Given the description of an element on the screen output the (x, y) to click on. 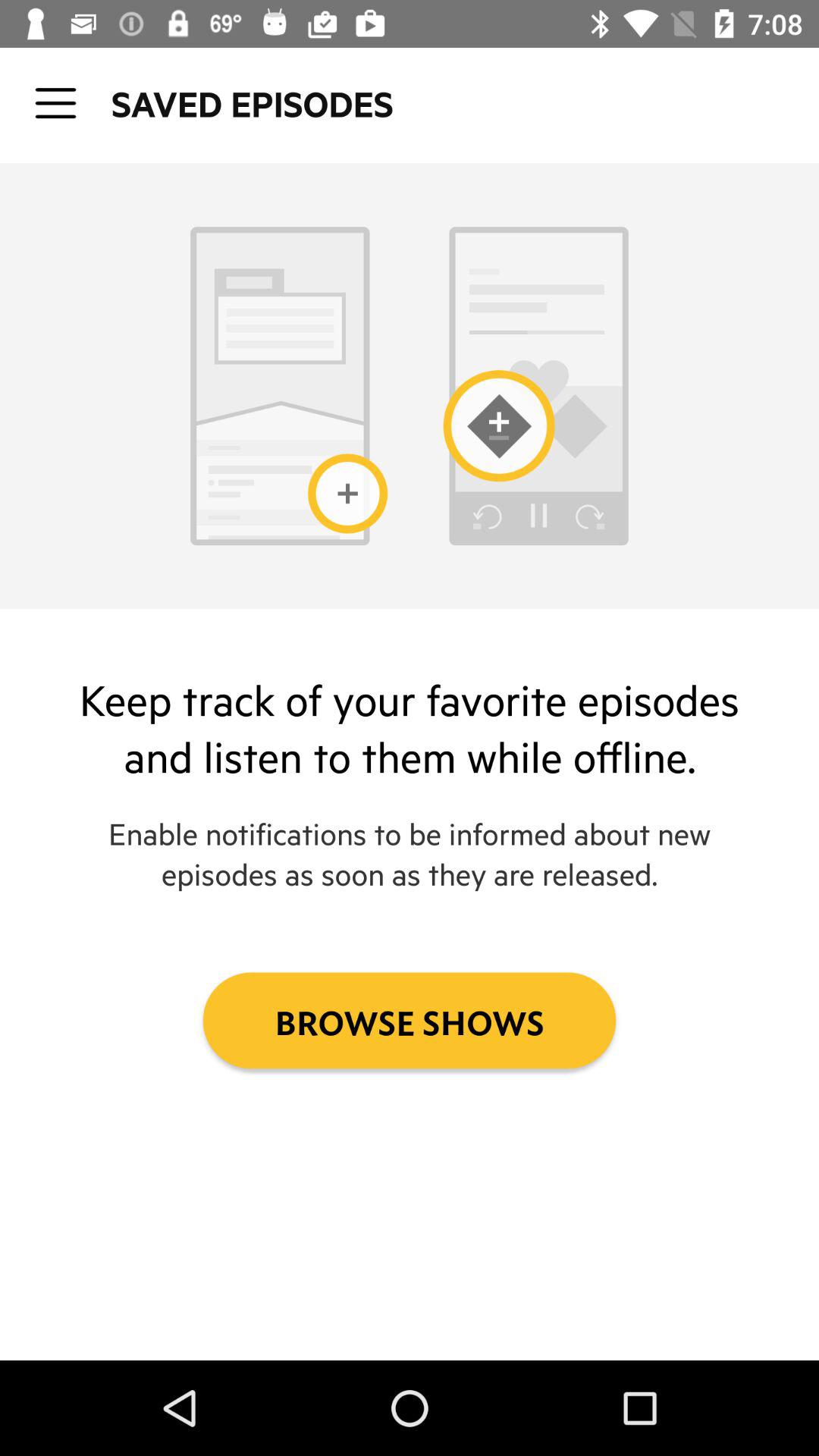
choose the icon to the left of the saved episodes icon (55, 103)
